Given the description of an element on the screen output the (x, y) to click on. 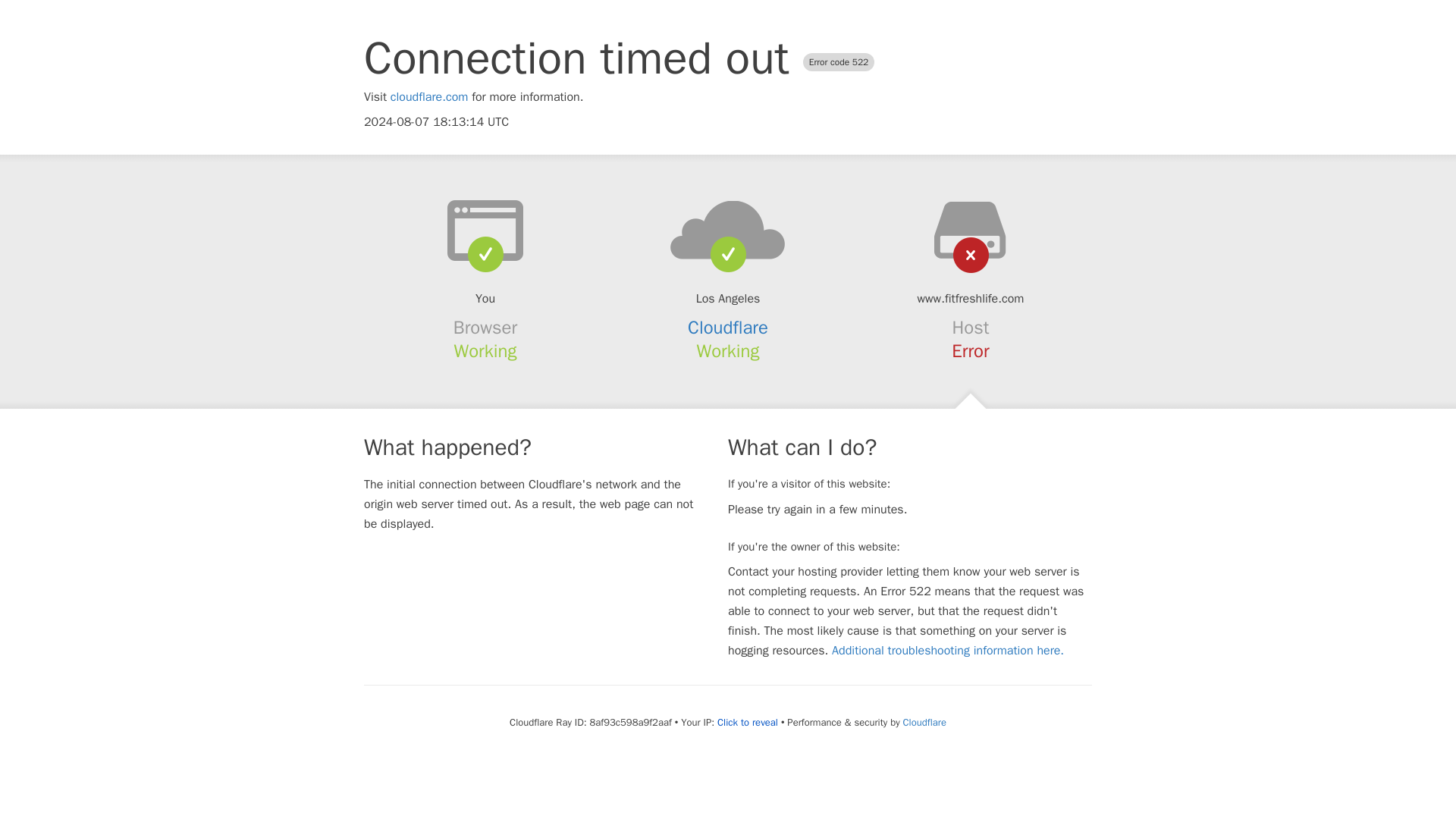
cloudflare.com (429, 96)
Additional troubleshooting information here. (947, 650)
Cloudflare (924, 721)
Cloudflare (727, 327)
Click to reveal (747, 722)
